Given the description of an element on the screen output the (x, y) to click on. 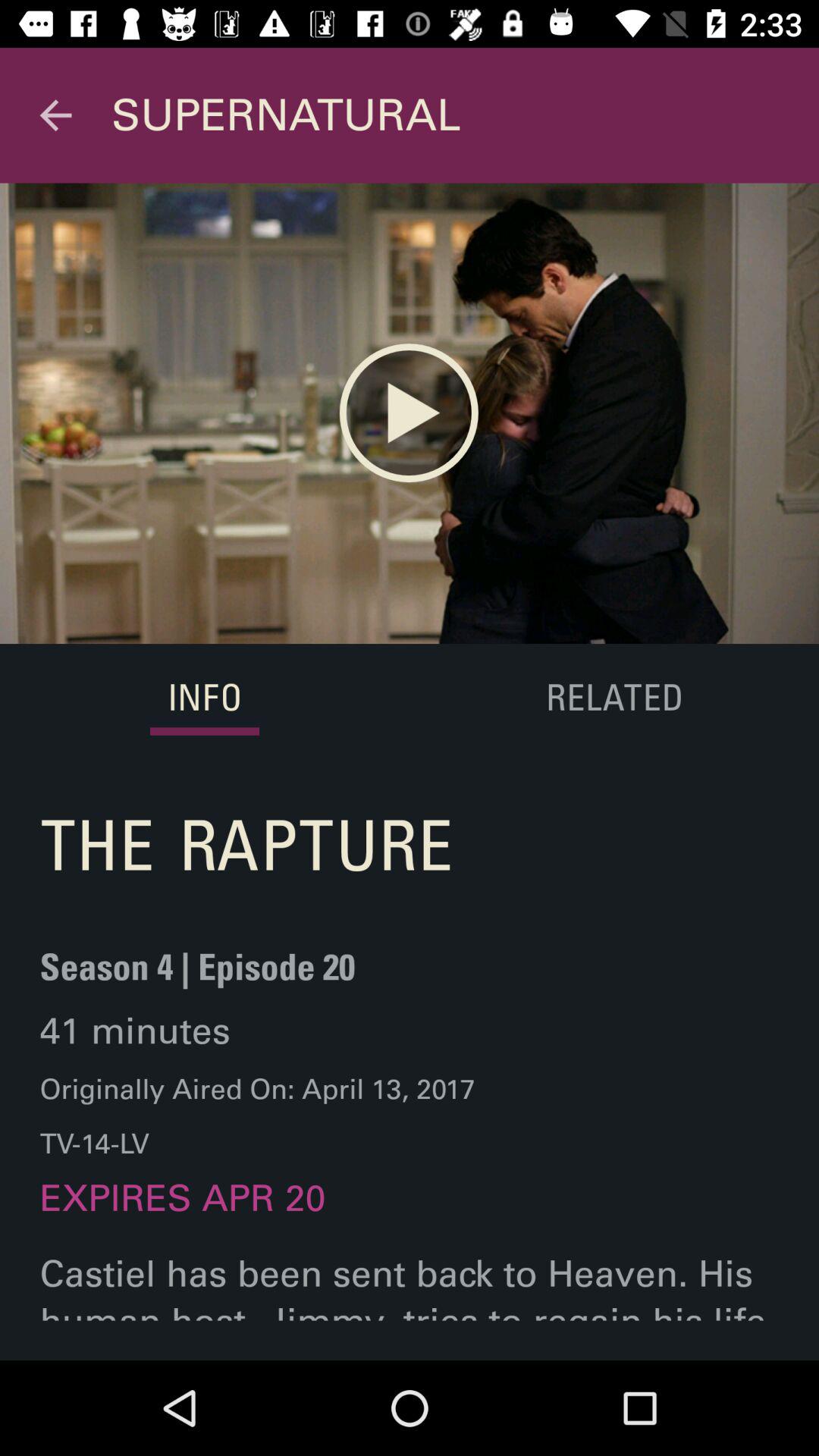
tap icon next to related icon (204, 699)
